Given the description of an element on the screen output the (x, y) to click on. 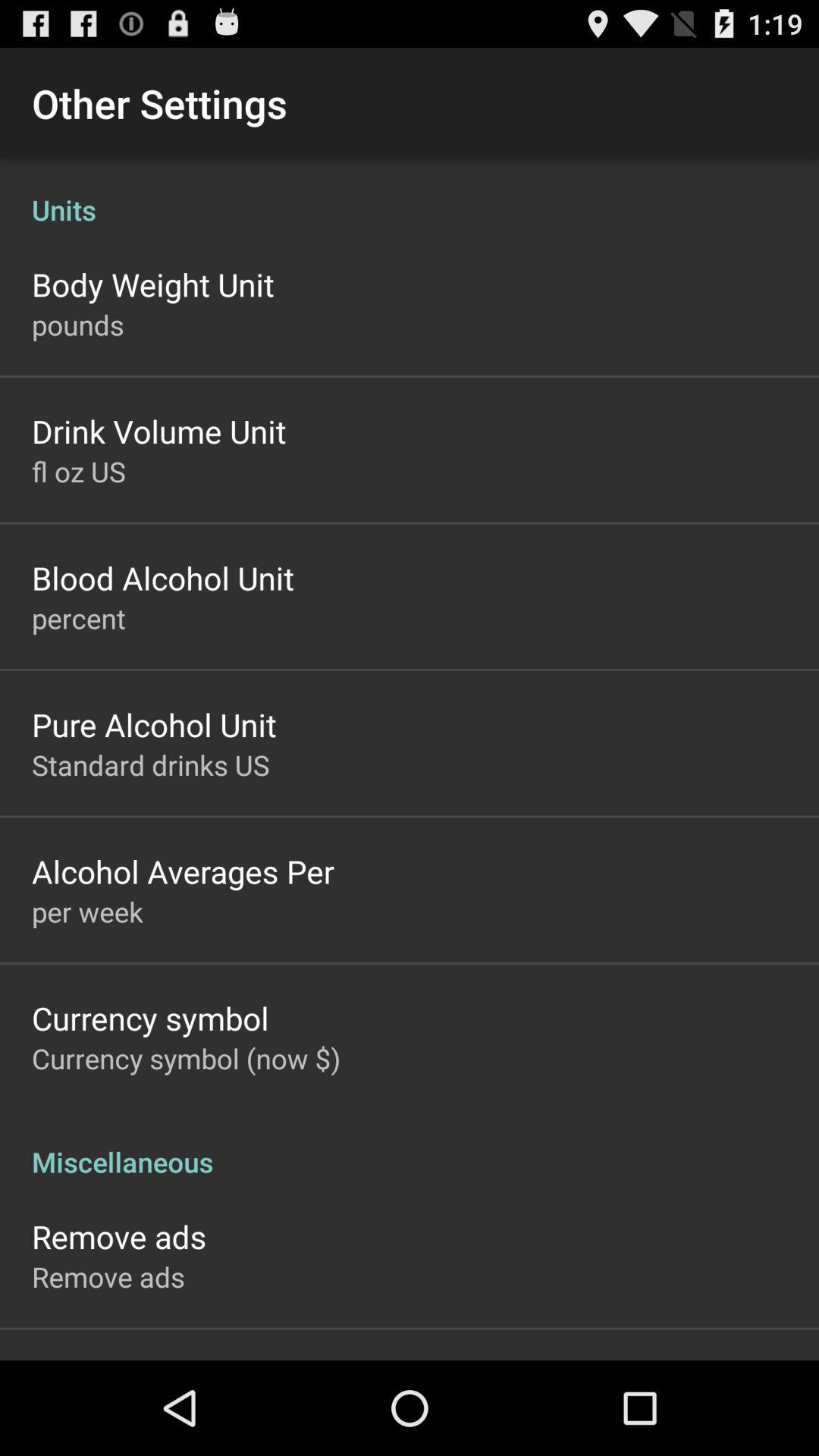
choose icon below the blood alcohol unit icon (78, 618)
